Given the description of an element on the screen output the (x, y) to click on. 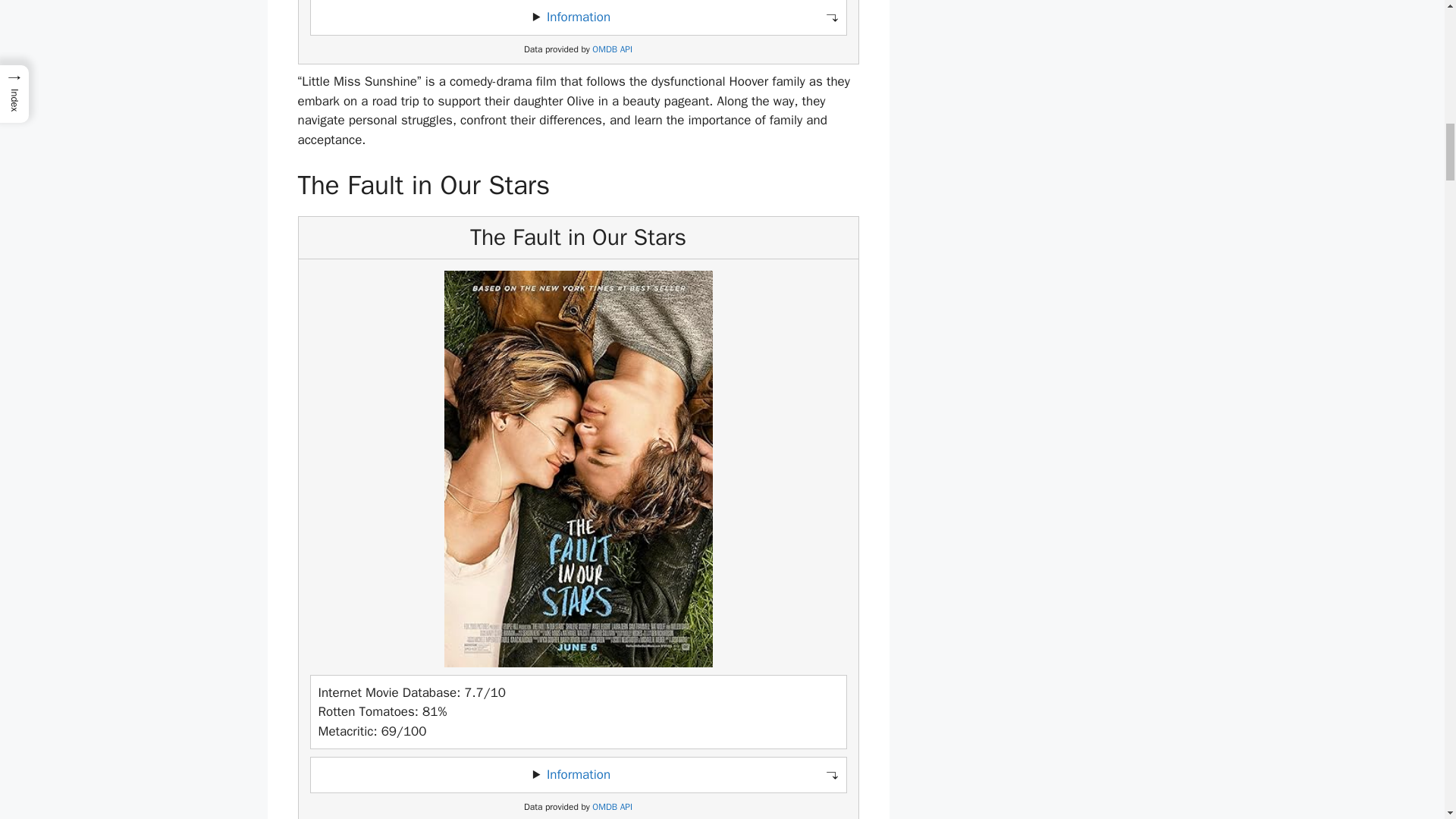
Open Movie Database API (611, 807)
Toggle information (578, 17)
Information (578, 17)
OMDB API (611, 807)
Toggle information (578, 774)
OMDB API (611, 49)
Open Movie Database API (611, 49)
Information (578, 774)
